Given the description of an element on the screen output the (x, y) to click on. 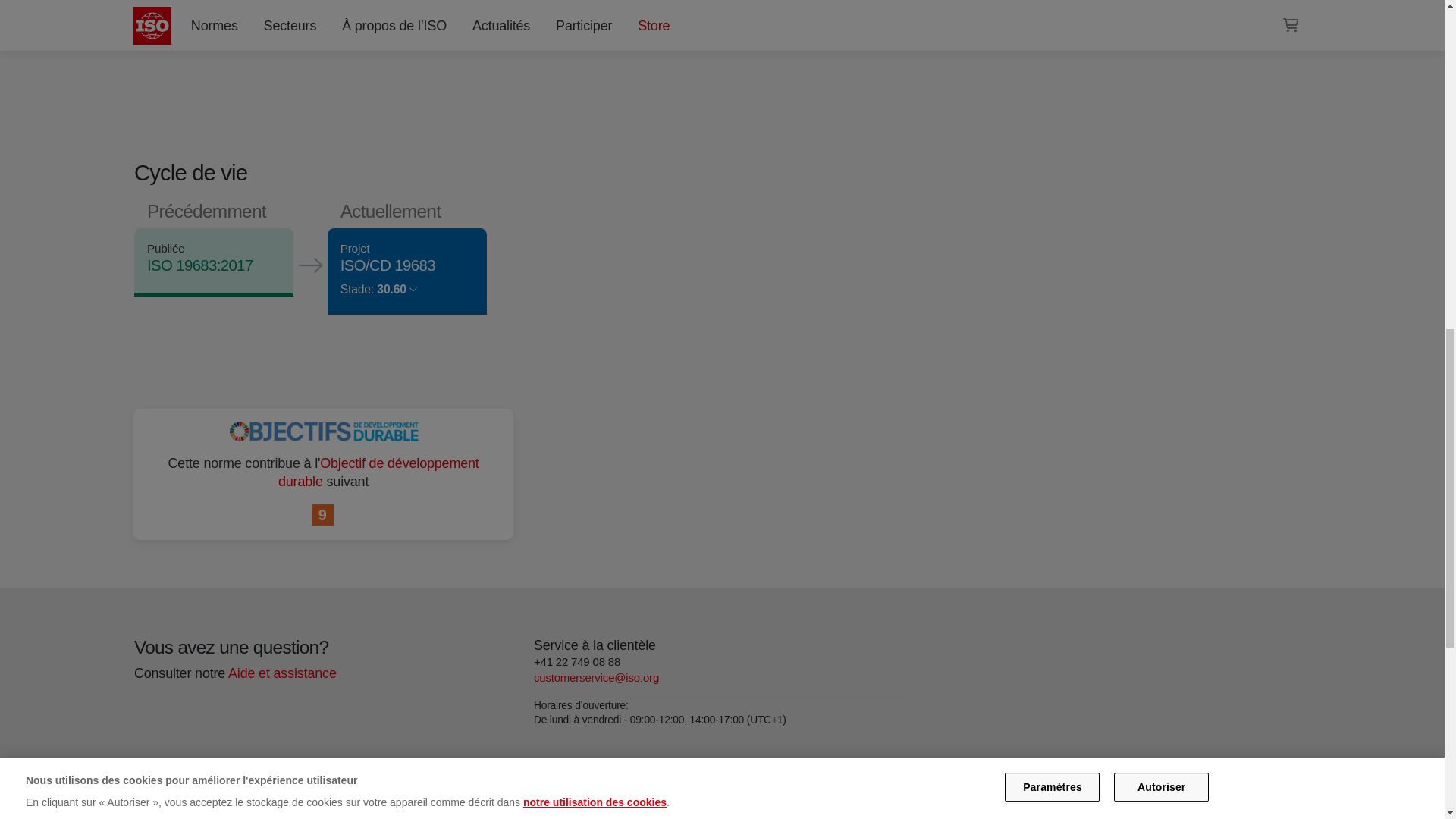
help-support (281, 672)
Stade: 30.60 (377, 288)
Industrie, innovation et infrastructure (323, 515)
ISO 19683:2017 (199, 265)
